Given the description of an element on the screen output the (x, y) to click on. 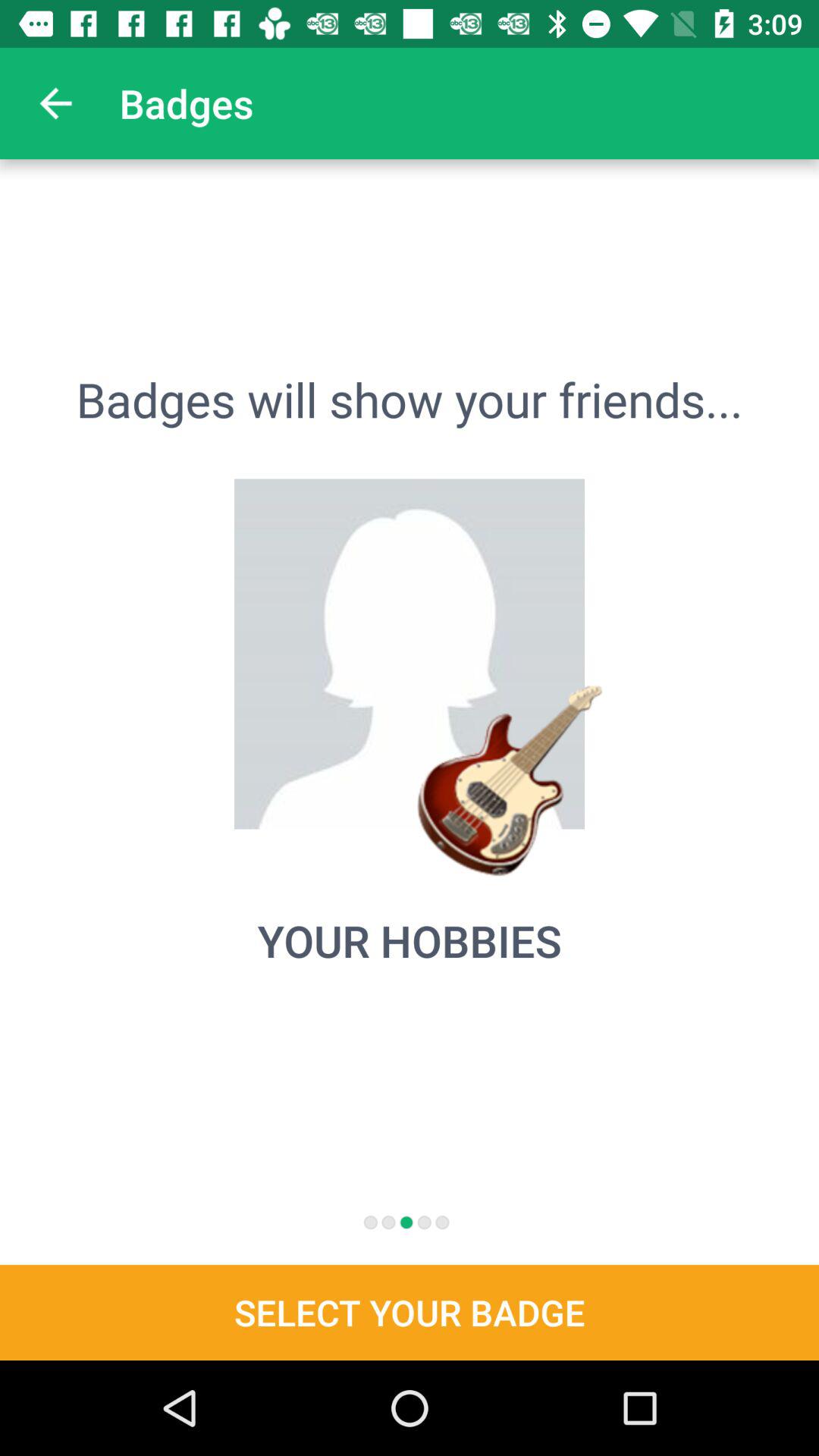
open icon next to badges app (55, 103)
